Given the description of an element on the screen output the (x, y) to click on. 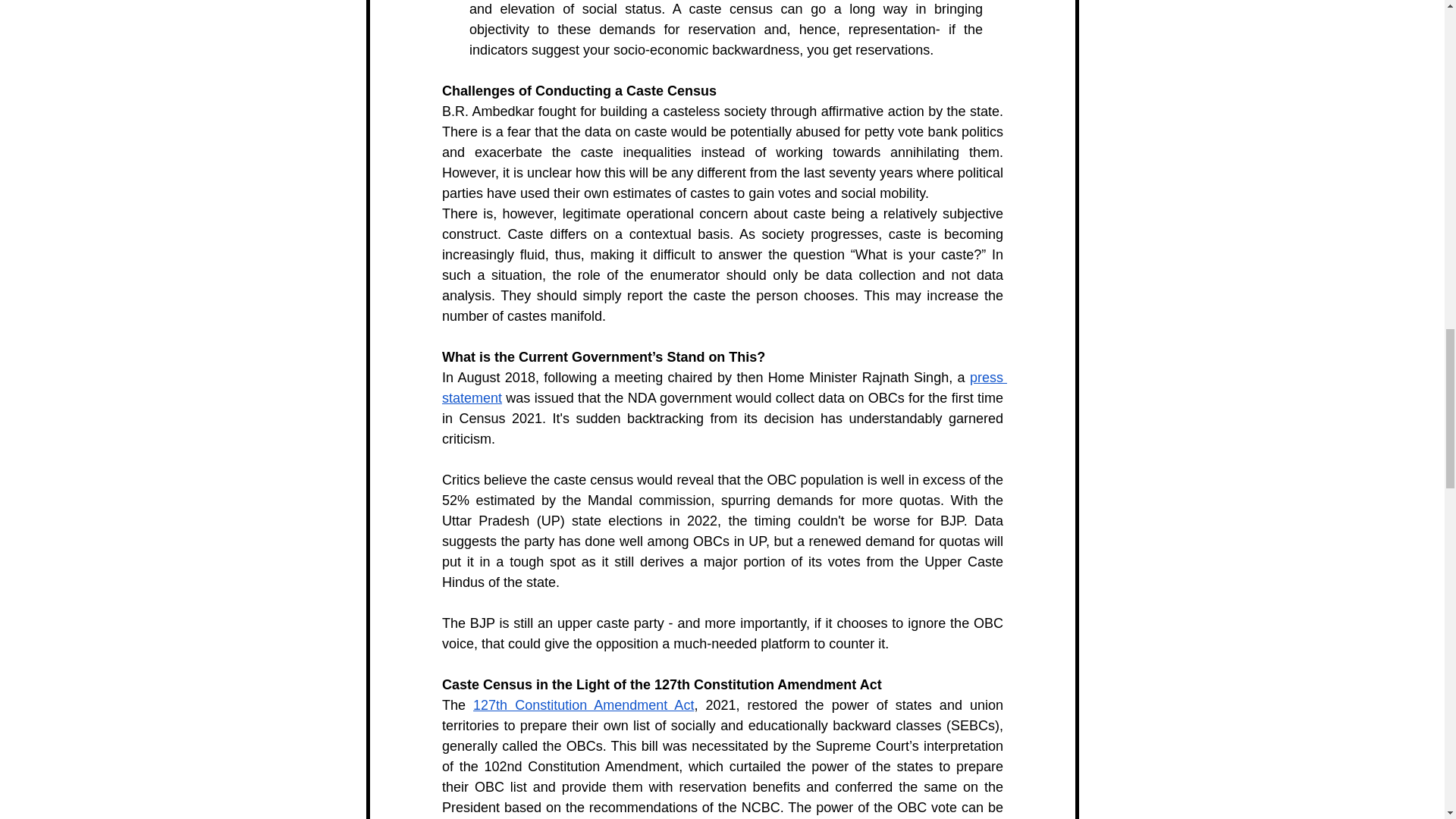
press statement (723, 387)
